Given the description of an element on the screen output the (x, y) to click on. 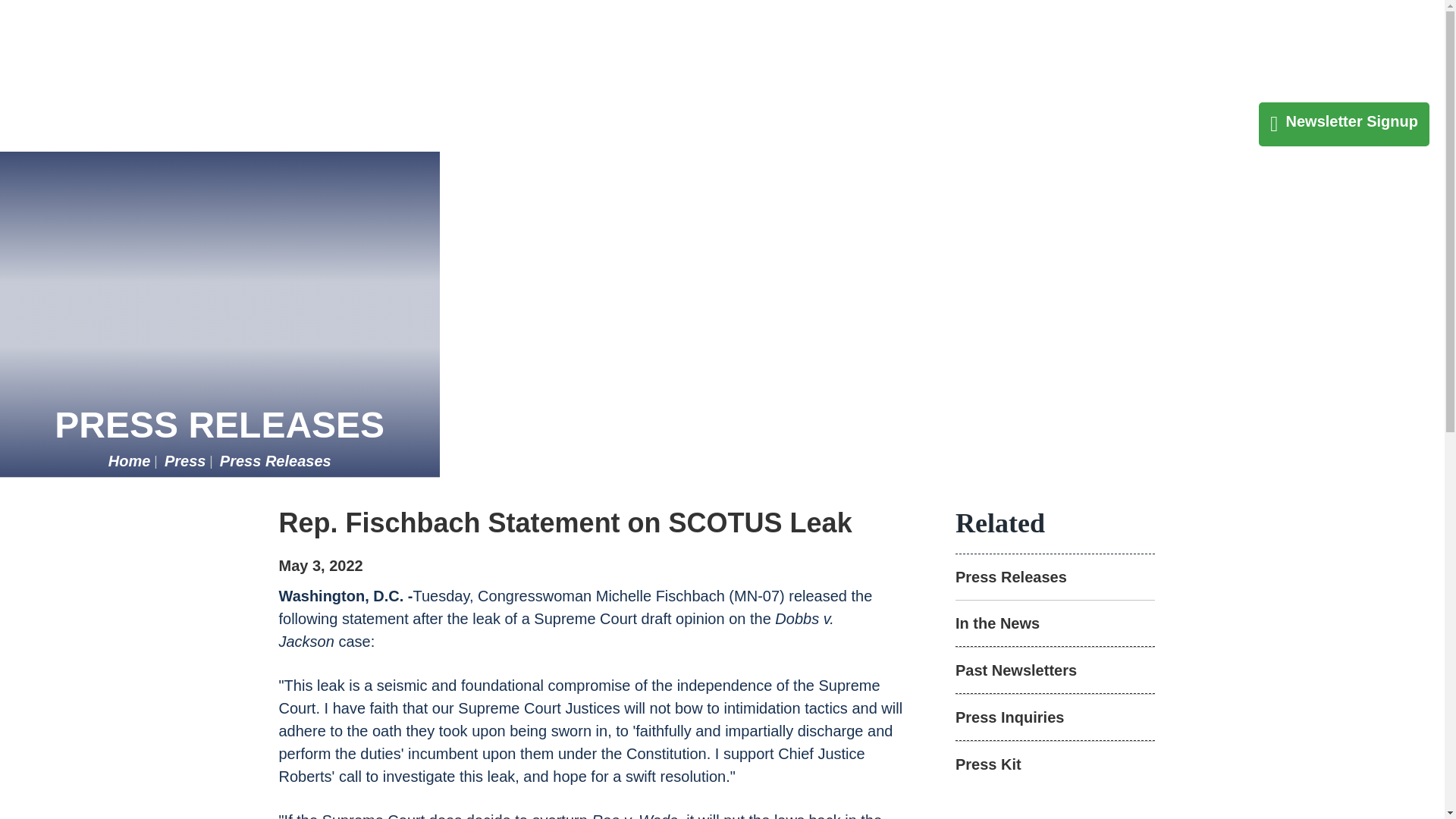
PRESS (1209, 52)
Home (129, 460)
CONGRESSWOMAN MICHELLE FISCHBACH (150, 50)
PRESS RELEASES (219, 424)
SERVICES (1311, 52)
CONTACT (1110, 52)
ABOUT (1008, 52)
